Given the description of an element on the screen output the (x, y) to click on. 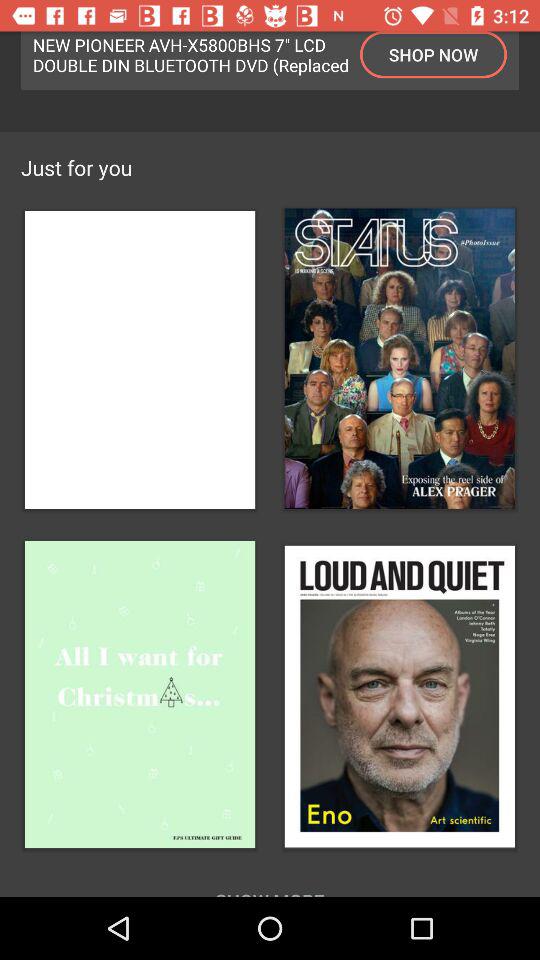
click item next to the shop now icon (191, 54)
